Given the description of an element on the screen output the (x, y) to click on. 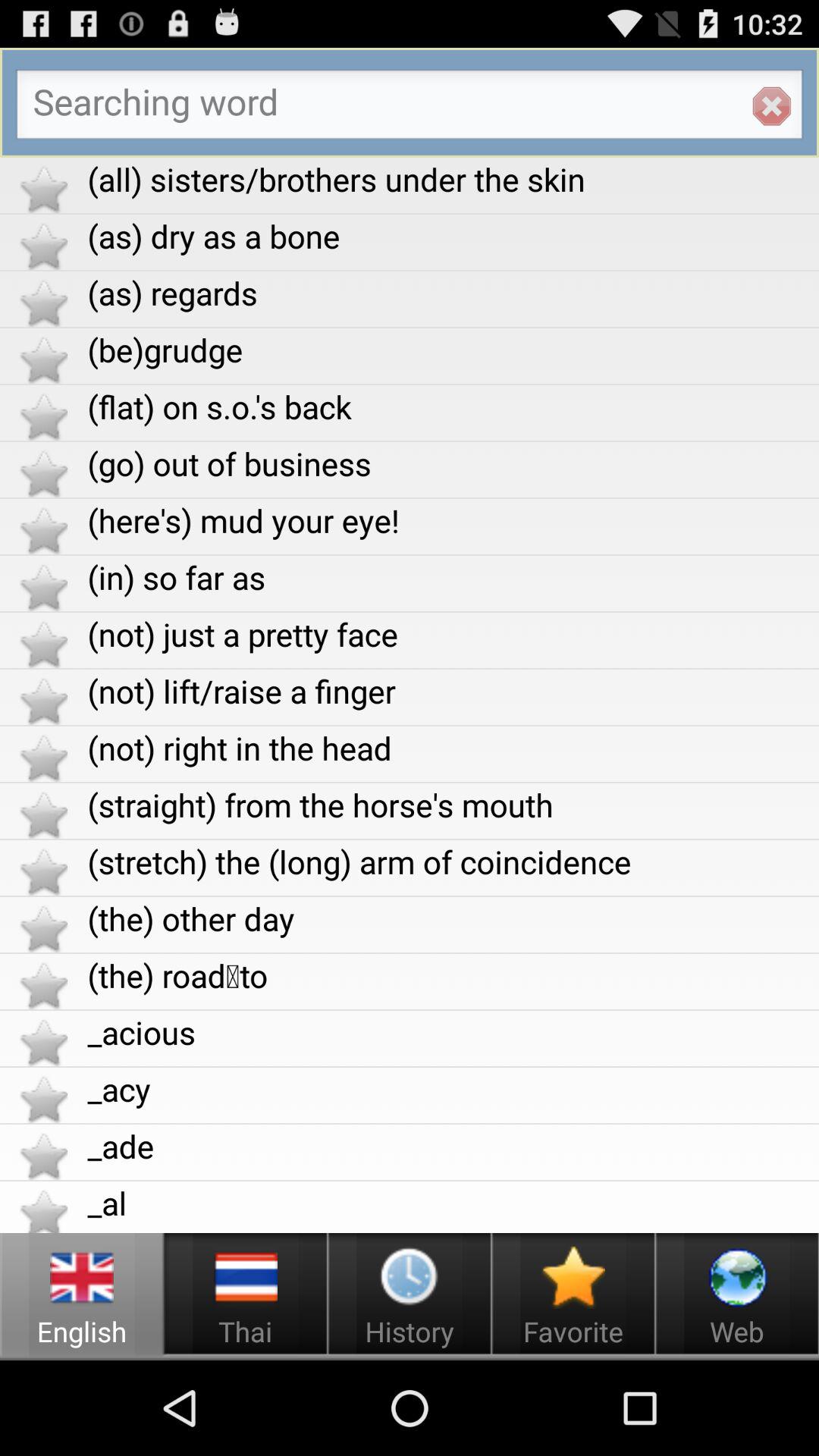
swipe to _al (453, 1202)
